Given the description of an element on the screen output the (x, y) to click on. 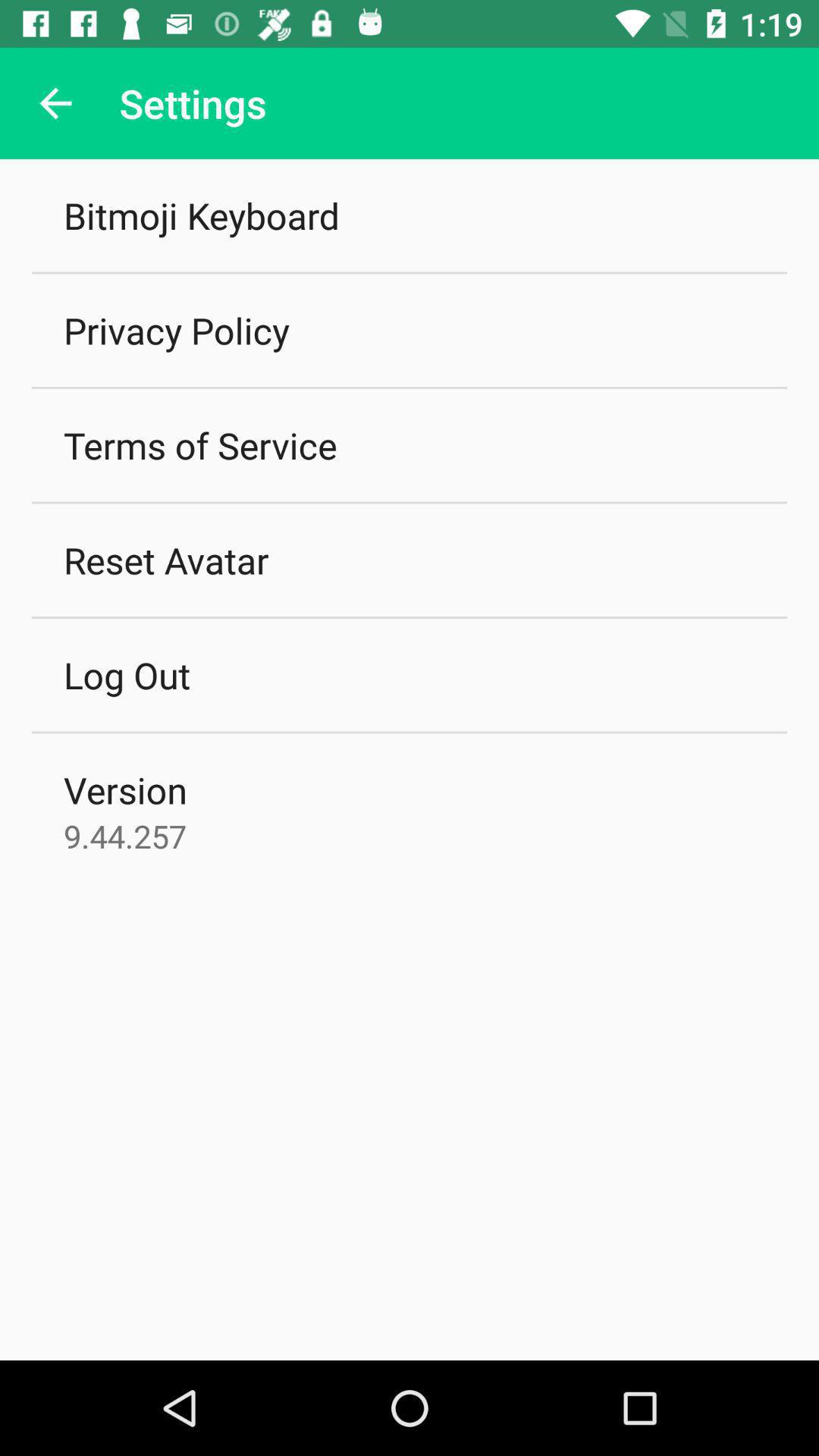
open version (125, 789)
